Given the description of an element on the screen output the (x, y) to click on. 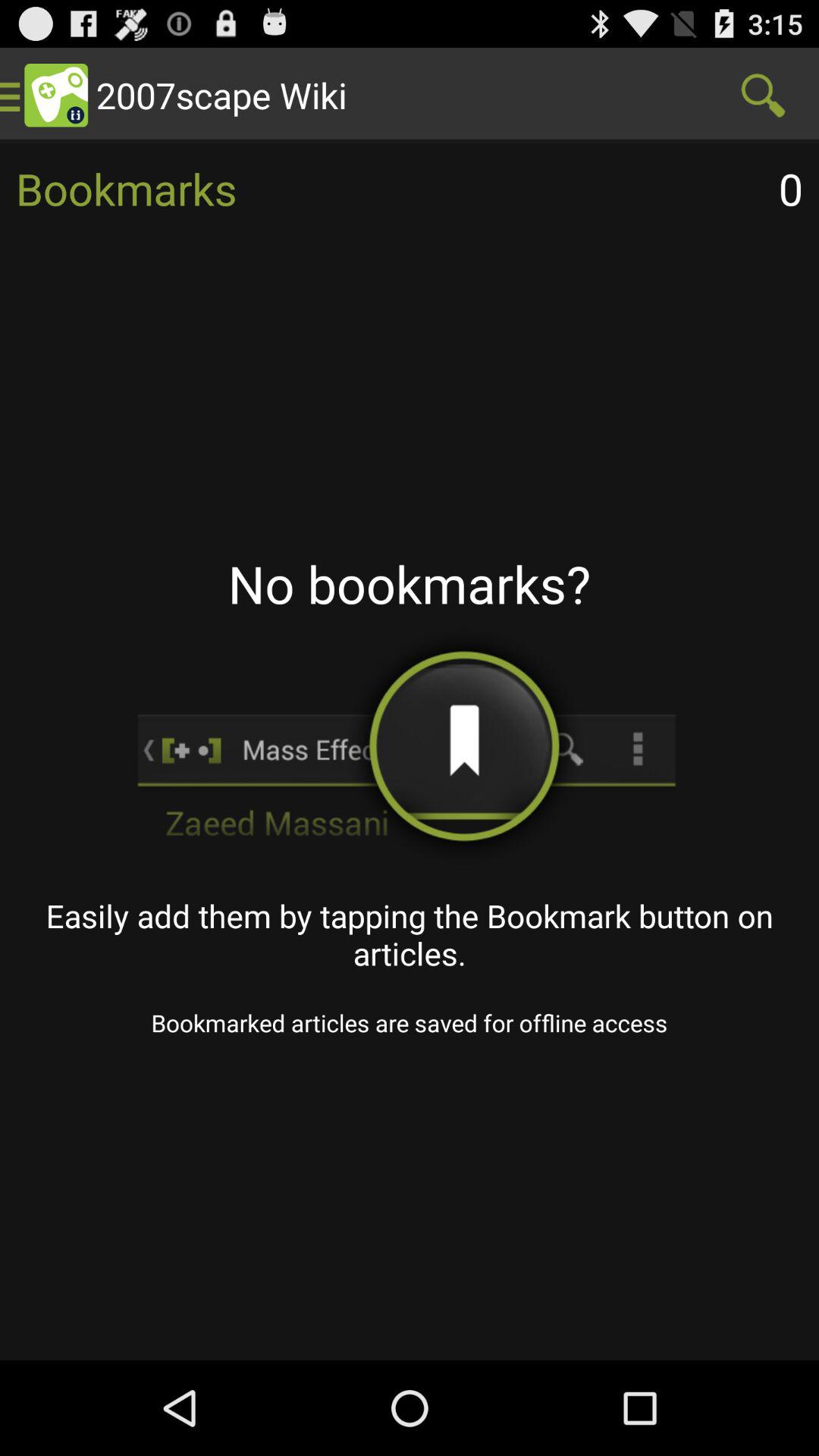
choose the icon to the right of 2007scape wiki icon (763, 95)
